Given the description of an element on the screen output the (x, y) to click on. 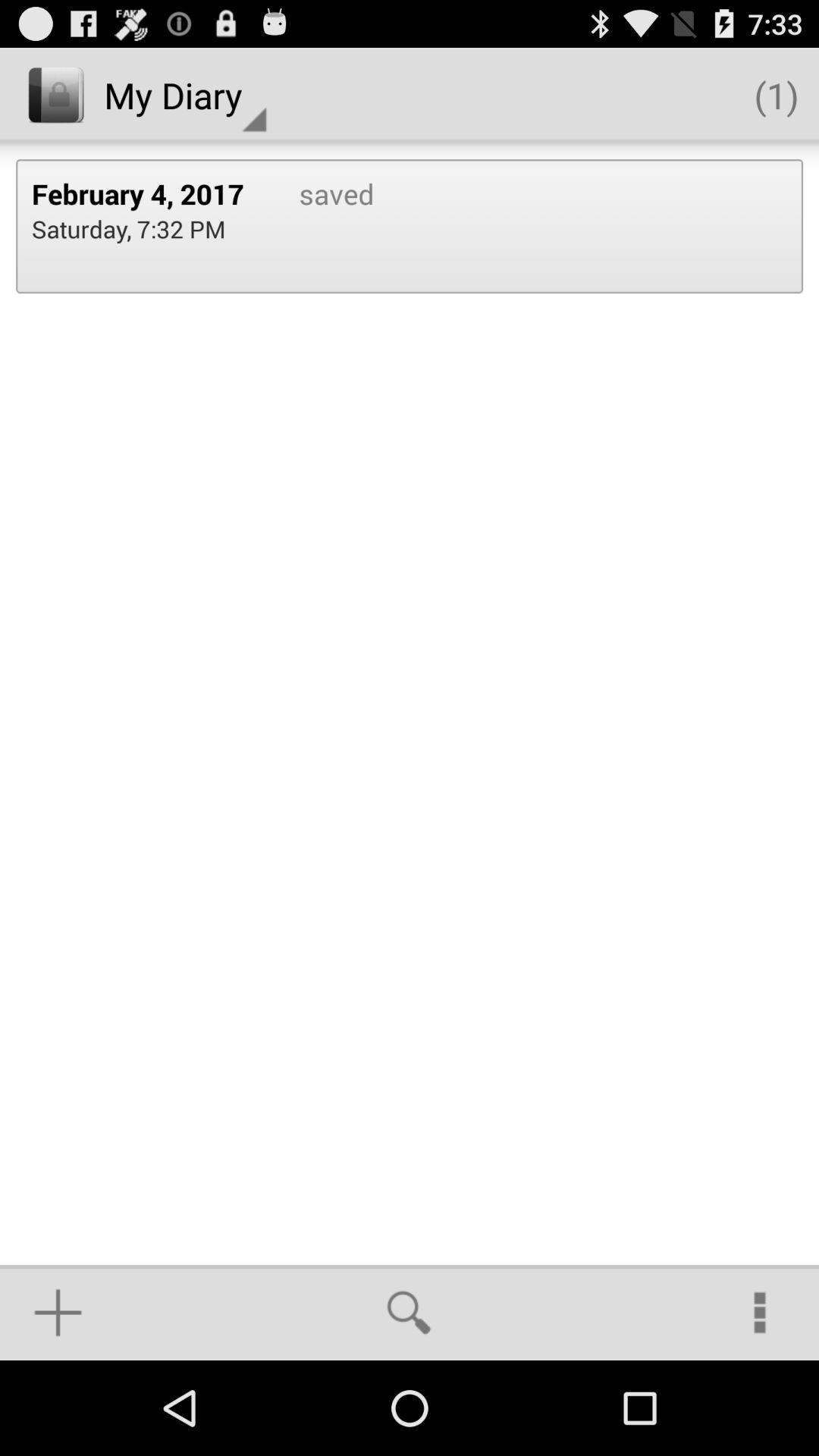
tap item below my diary button (320, 226)
